Given the description of an element on the screen output the (x, y) to click on. 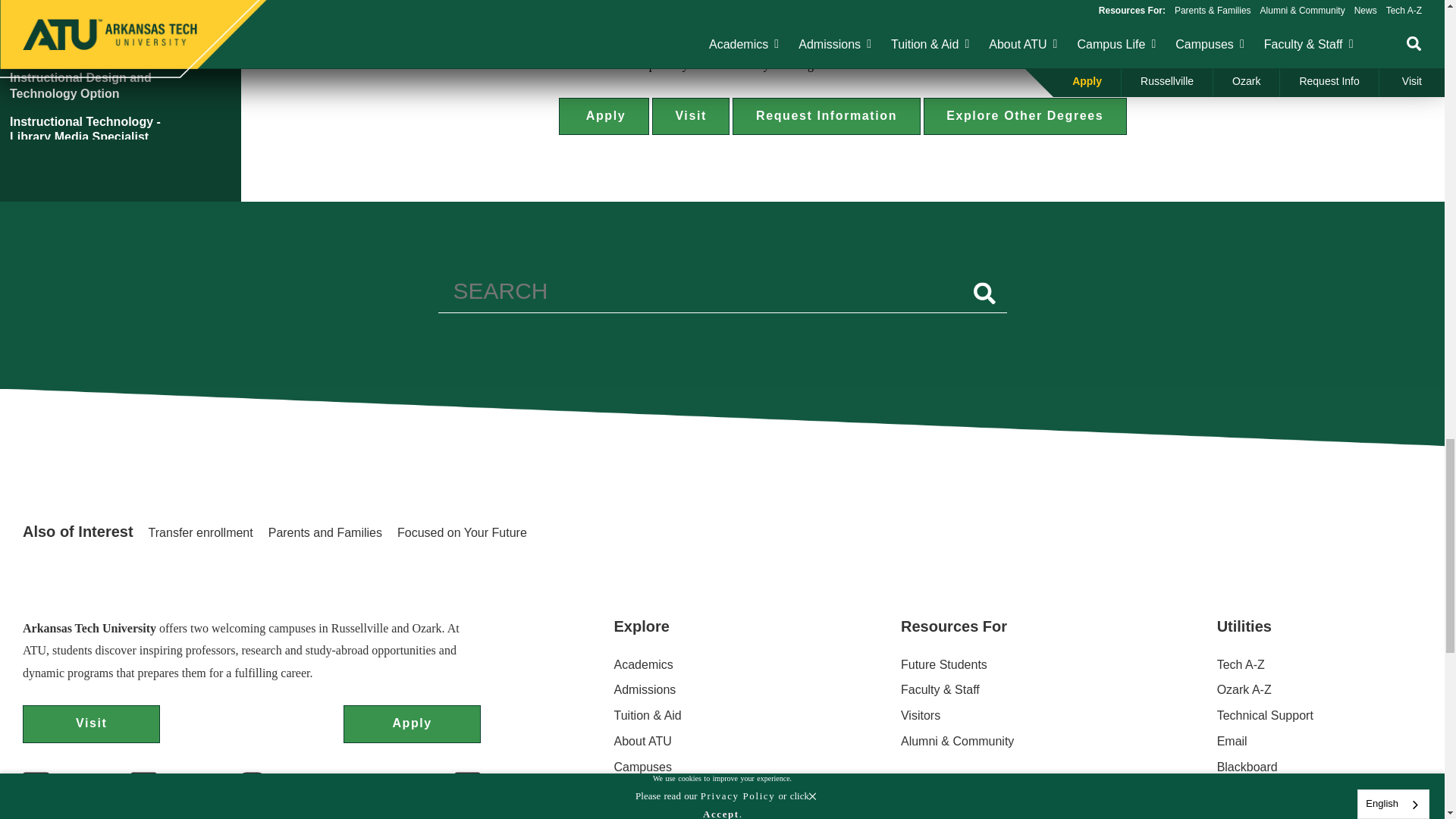
Site Search (722, 294)
